Given the description of an element on the screen output the (x, y) to click on. 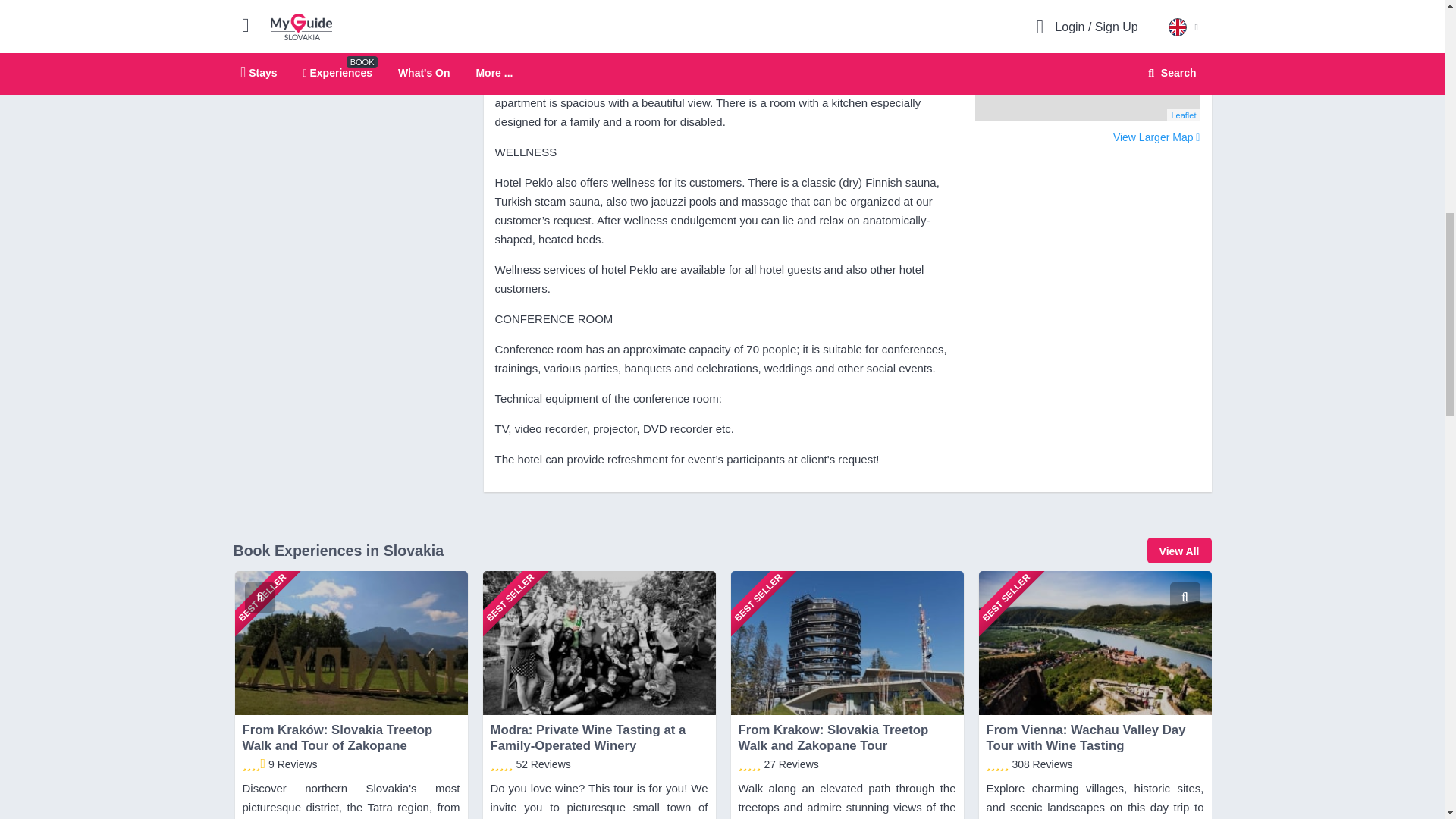
A JS library for interactive maps (1182, 114)
Larger Map for Company: Hotel Peklo - Pokol Slovakia (1156, 137)
Zoom in (995, 0)
Zoom out (995, 12)
